Given the description of an element on the screen output the (x, y) to click on. 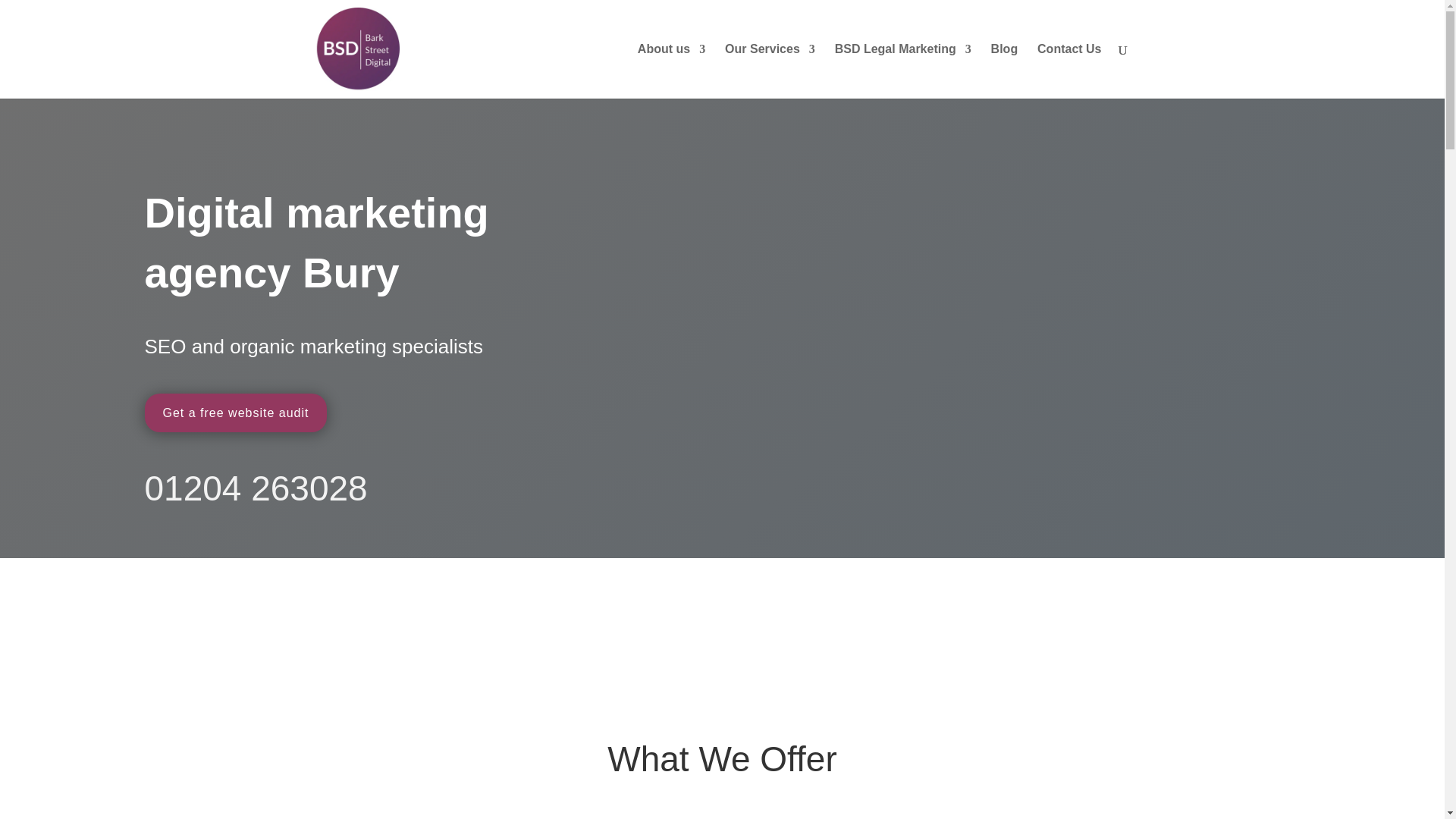
BSD Legal Marketing (902, 71)
About us (670, 71)
Our Services (770, 71)
Get a free website audit (235, 412)
Contact Us (1068, 71)
